Given the description of an element on the screen output the (x, y) to click on. 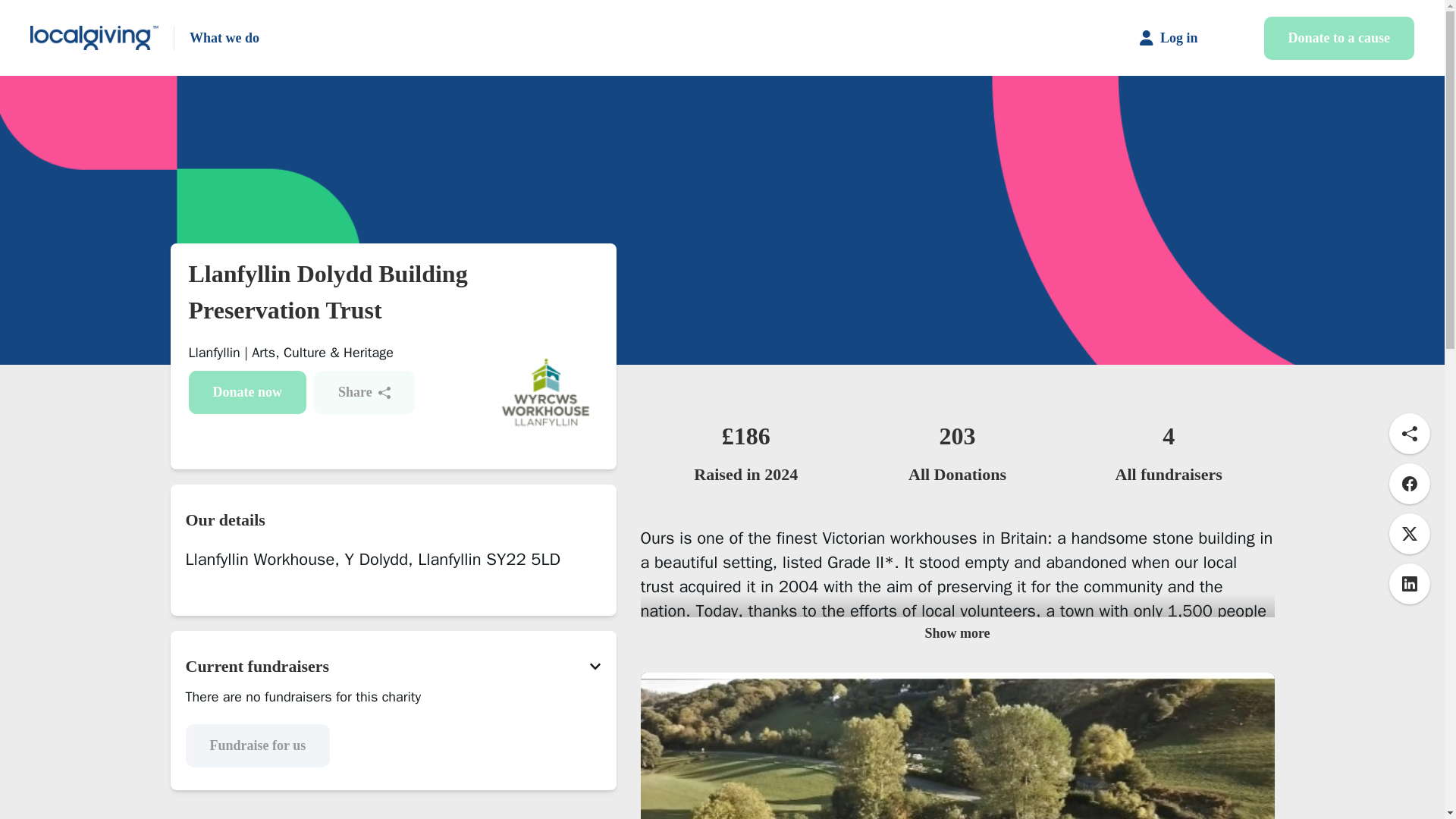
Fundraise for us (257, 745)
Current fundraisers (391, 665)
Show more (957, 633)
Share (364, 392)
Log in (1182, 37)
Donate to a cause (1338, 37)
Donate now (246, 392)
Fundraise for us (391, 745)
